Given the description of an element on the screen output the (x, y) to click on. 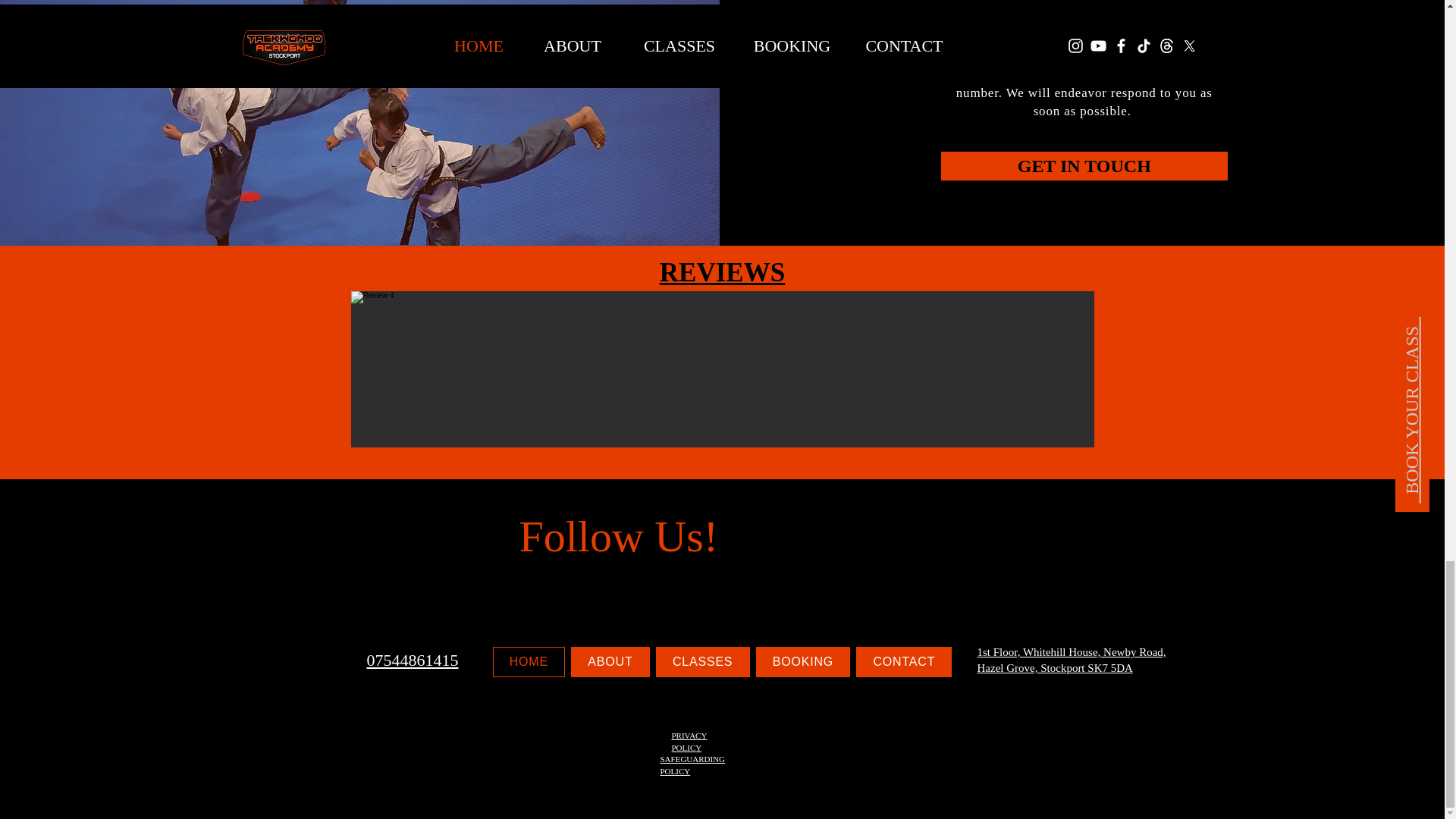
HOME (529, 662)
CLASSES (702, 662)
CONTACT (904, 662)
PRIVACY POLICY (689, 741)
GET IN TOUCH (1083, 165)
BOOKING (802, 662)
SAFEGUARDING POLICY (692, 764)
ABOUT (609, 662)
07544861415 (412, 659)
